Given the description of an element on the screen output the (x, y) to click on. 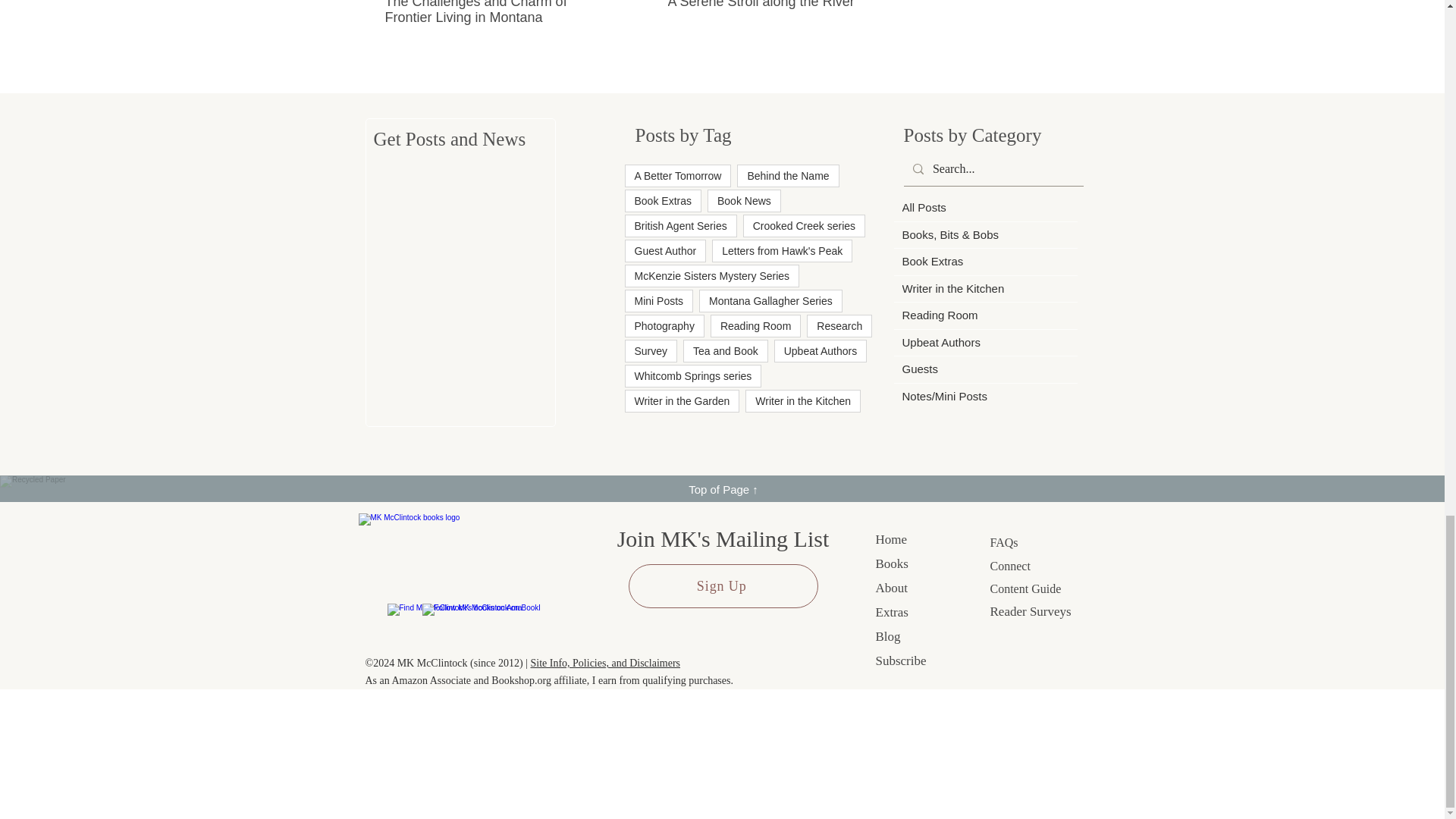
The Challenges and Charm of Frontier Living in Montana (494, 12)
